Given the description of an element on the screen output the (x, y) to click on. 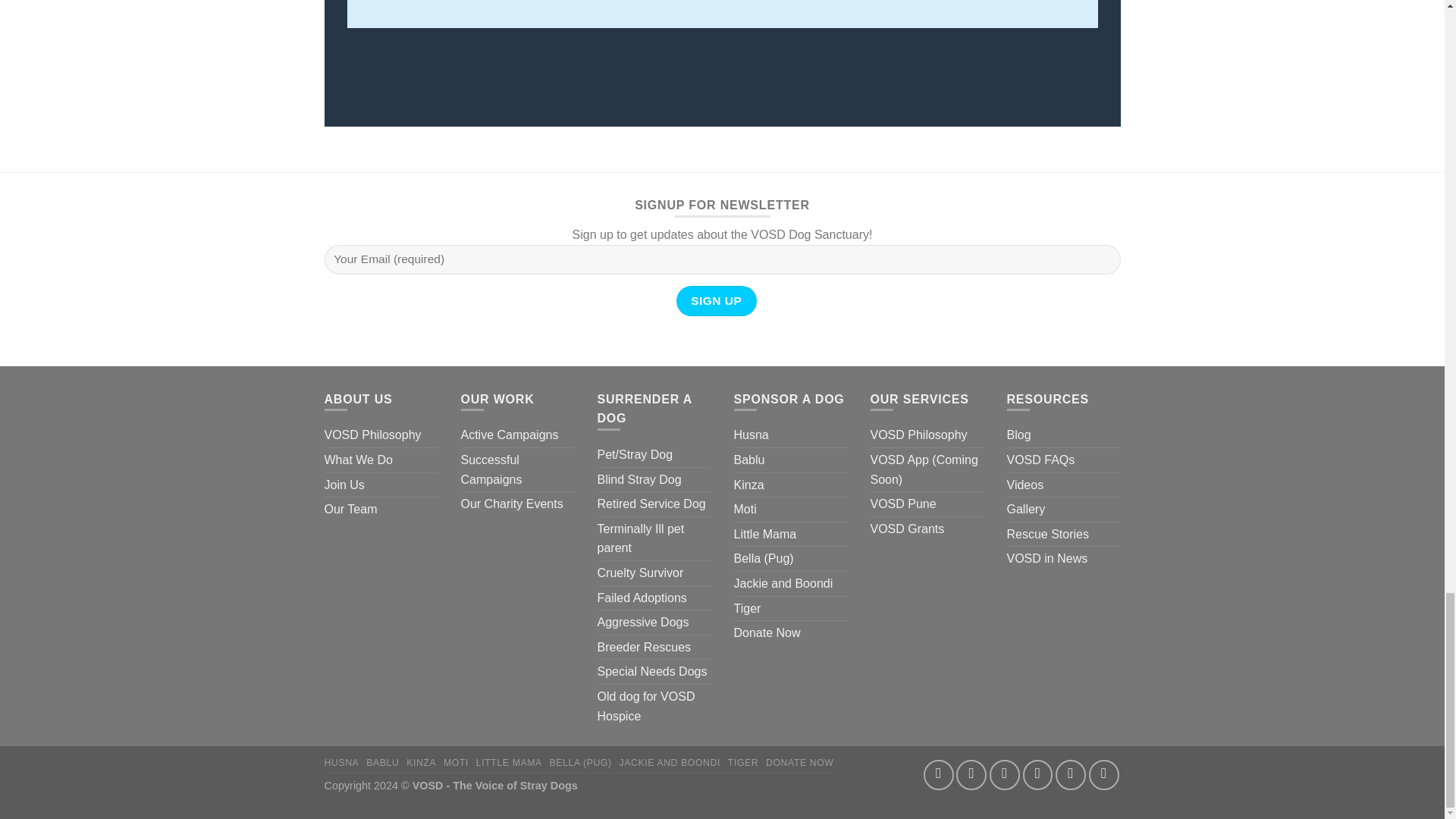
Follow on Instagram (971, 775)
Follow on LinkedIn (1070, 775)
Send us an email (1037, 775)
Follow on Twitter (1005, 775)
Follow on YouTube (1104, 775)
Follow on Facebook (938, 775)
Sign Up (717, 300)
